Given the description of an element on the screen output the (x, y) to click on. 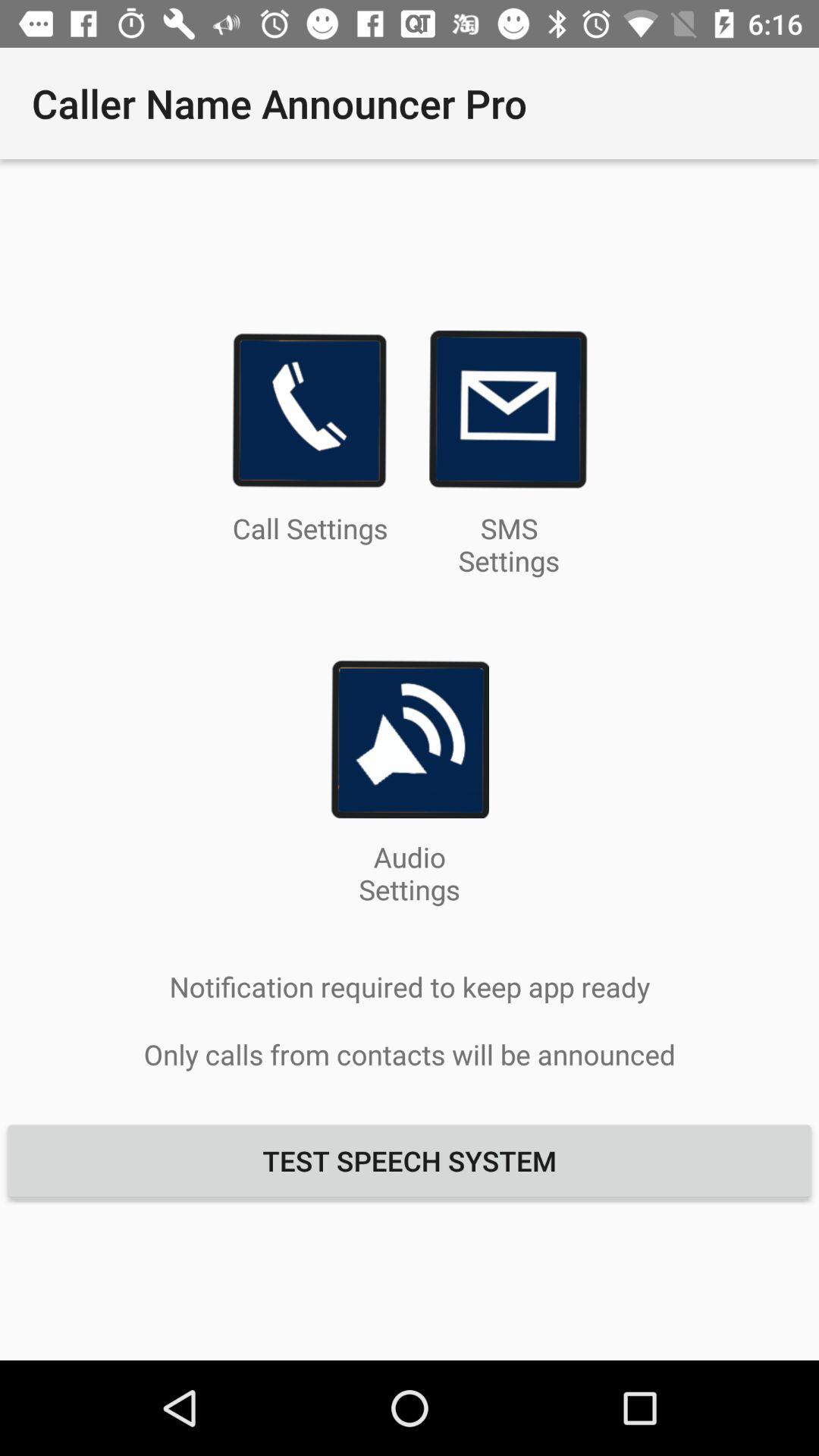
swipe to the test speech system (409, 1160)
